Given the description of an element on the screen output the (x, y) to click on. 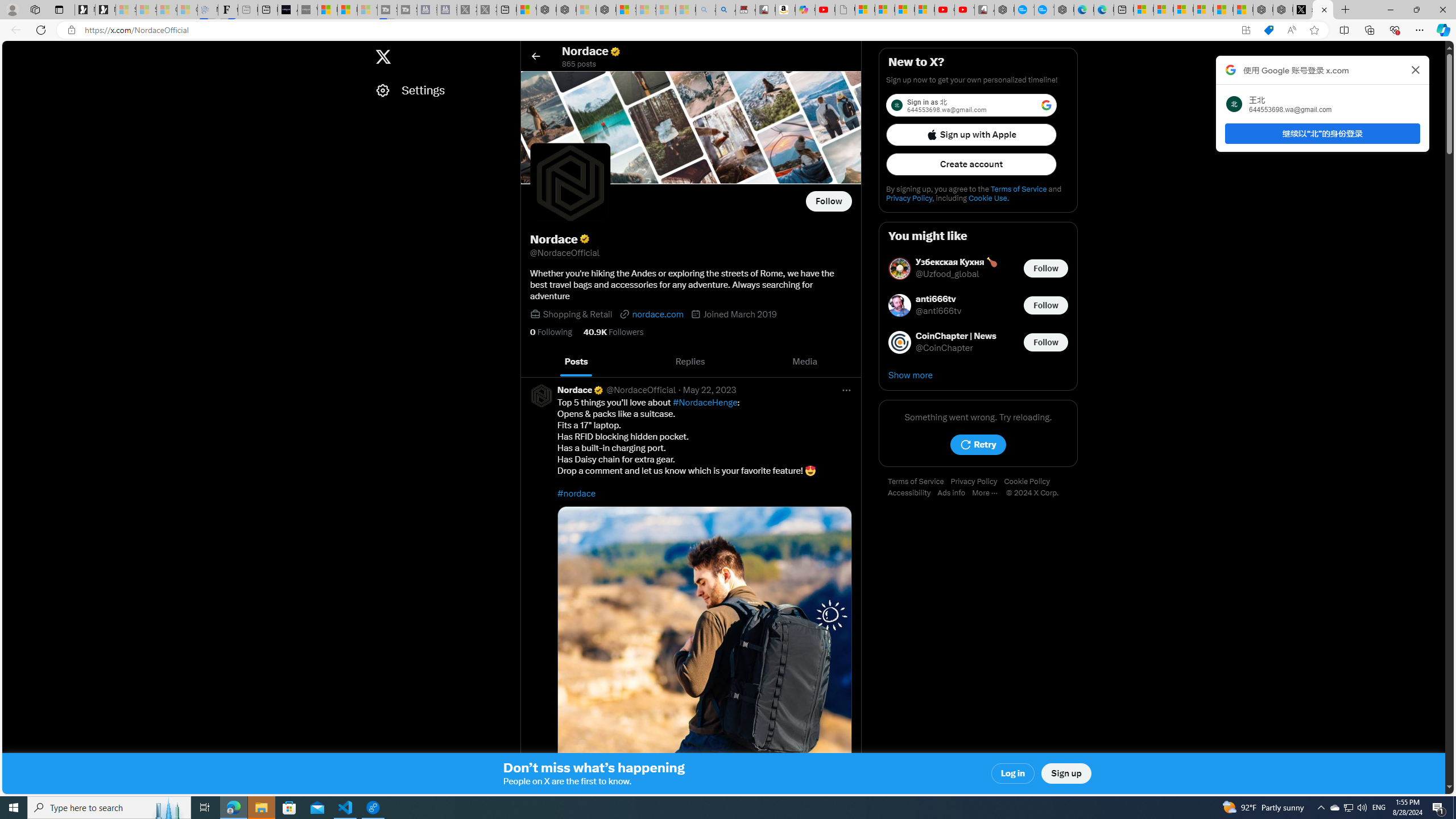
0 Following (550, 331)
x.com/NordaceOfficial (1302, 9)
Accessibility (912, 492)
CoinChapter | News (955, 336)
Nordace Verified account (580, 389)
Untitled (844, 9)
